Given the description of an element on the screen output the (x, y) to click on. 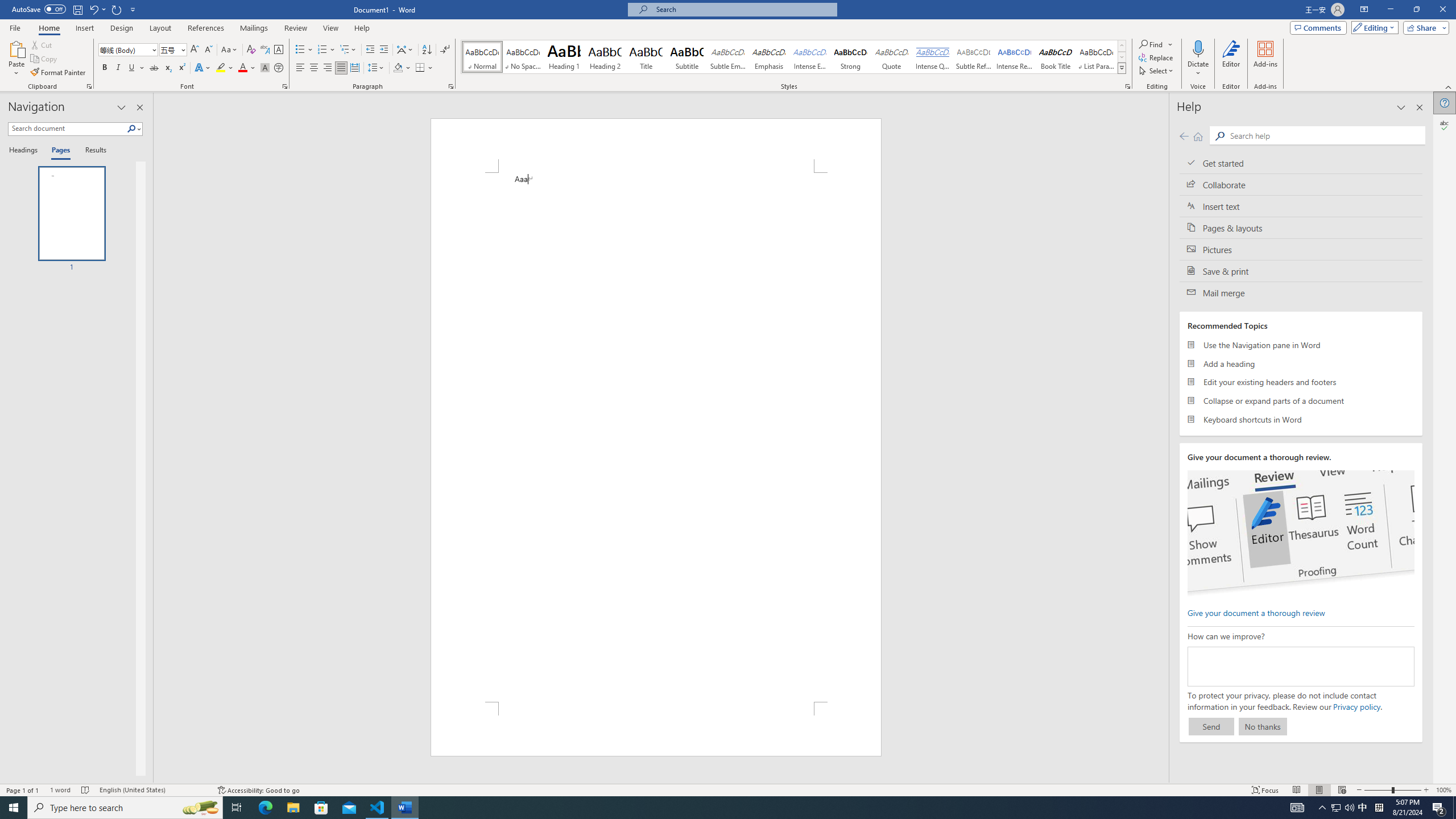
References (205, 28)
Read Mode (1296, 790)
Open (182, 49)
Zoom In (1426, 790)
Find (1155, 44)
Mail merge (1300, 292)
How can we improve? (1300, 666)
Shading (402, 67)
